Given the description of an element on the screen output the (x, y) to click on. 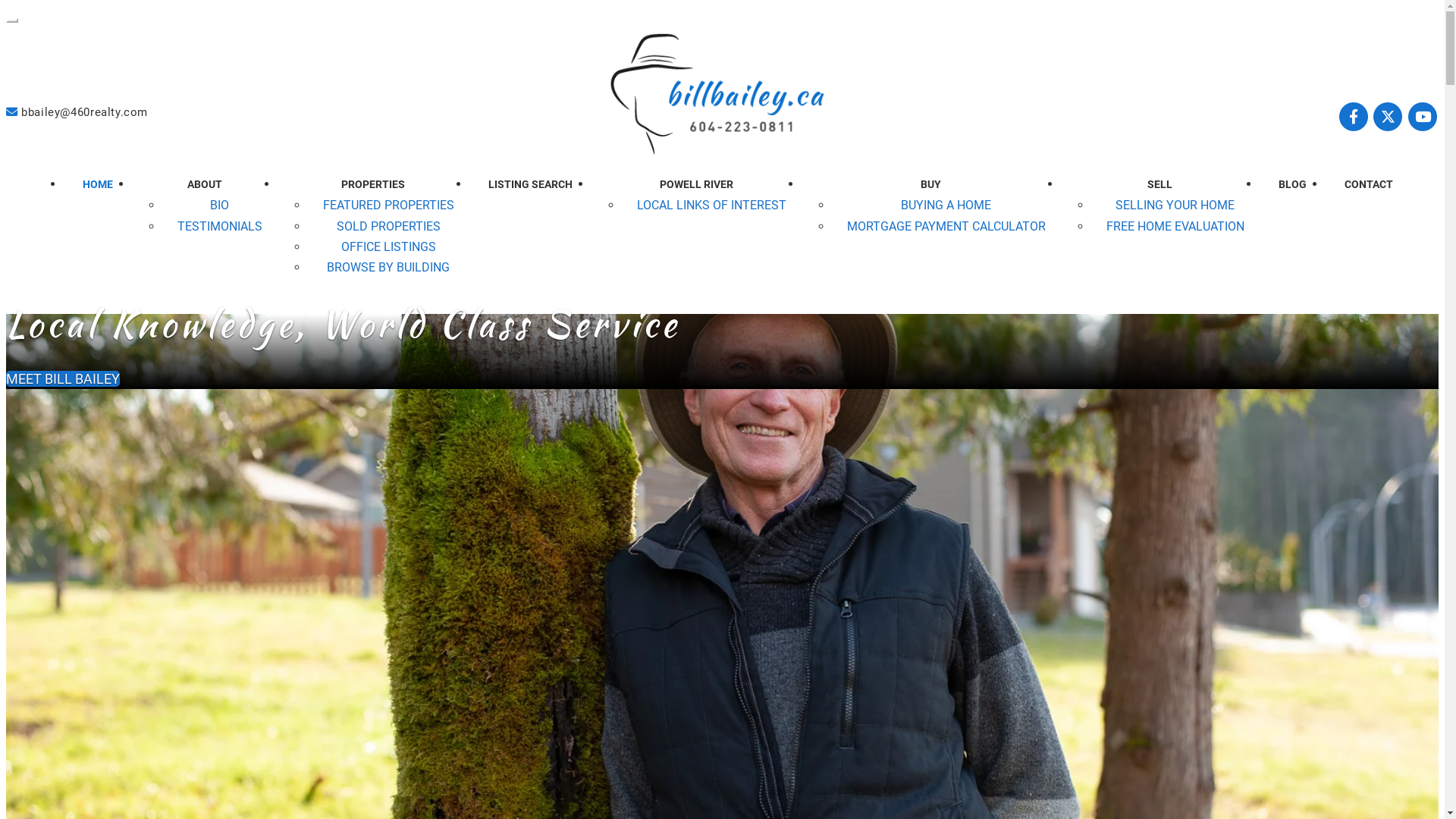
CONTACT Element type: text (1368, 184)
BLOG Element type: text (1291, 184)
TESTIMONIALS Element type: text (219, 226)
POWELL RIVER Element type: text (695, 184)
OFFICE LISTINGS Element type: text (388, 246)
HOME Element type: text (97, 184)
X (Twitter) Element type: hover (1388, 117)
MEET BILL BAILEY Element type: text (62, 378)
BUYING A HOME Element type: text (945, 204)
SELL Element type: text (1159, 184)
bbailey@460realty.com Element type: text (76, 112)
SELLING YOUR HOME Element type: text (1174, 204)
LOCAL LINKS OF INTEREST Element type: text (711, 204)
ABOUT Element type: text (204, 184)
SOLD PROPERTIES Element type: text (388, 226)
PROPERTIES Element type: text (372, 184)
BUY Element type: text (930, 184)
FREE HOME EVALUATION Element type: text (1174, 226)
FEATURED PROPERTIES Element type: text (388, 204)
BIO Element type: text (219, 204)
BROWSE BY BUILDING Element type: text (387, 267)
Facebook Element type: hover (1354, 117)
Toggle navigation Element type: text (12, 20)
LISTING SEARCH Element type: text (529, 184)
YouTube Element type: hover (1422, 117)
MORTGAGE PAYMENT CALCULATOR Element type: text (945, 226)
